Given the description of an element on the screen output the (x, y) to click on. 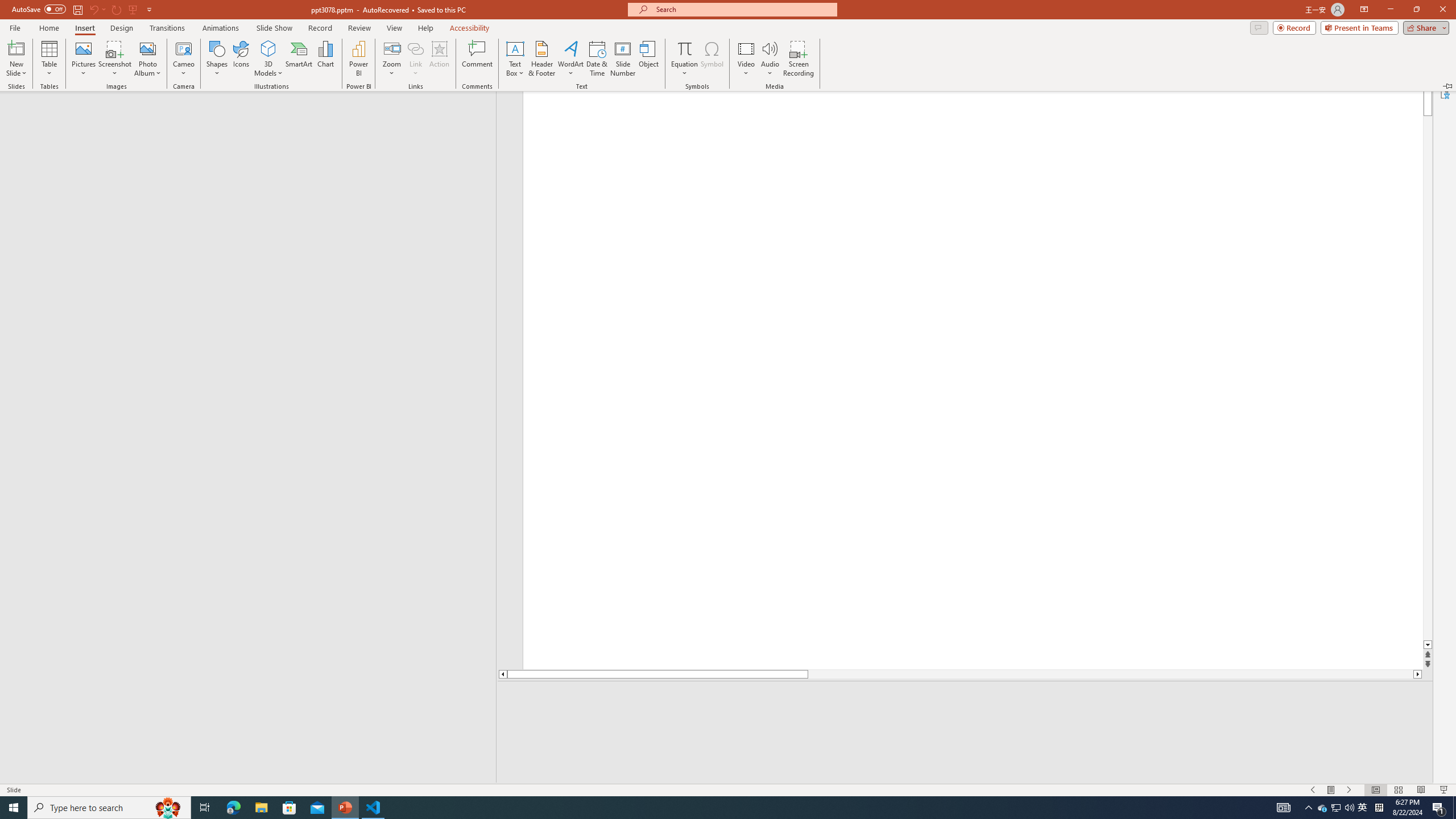
Slide Show Previous On (1313, 790)
